Given the description of an element on the screen output the (x, y) to click on. 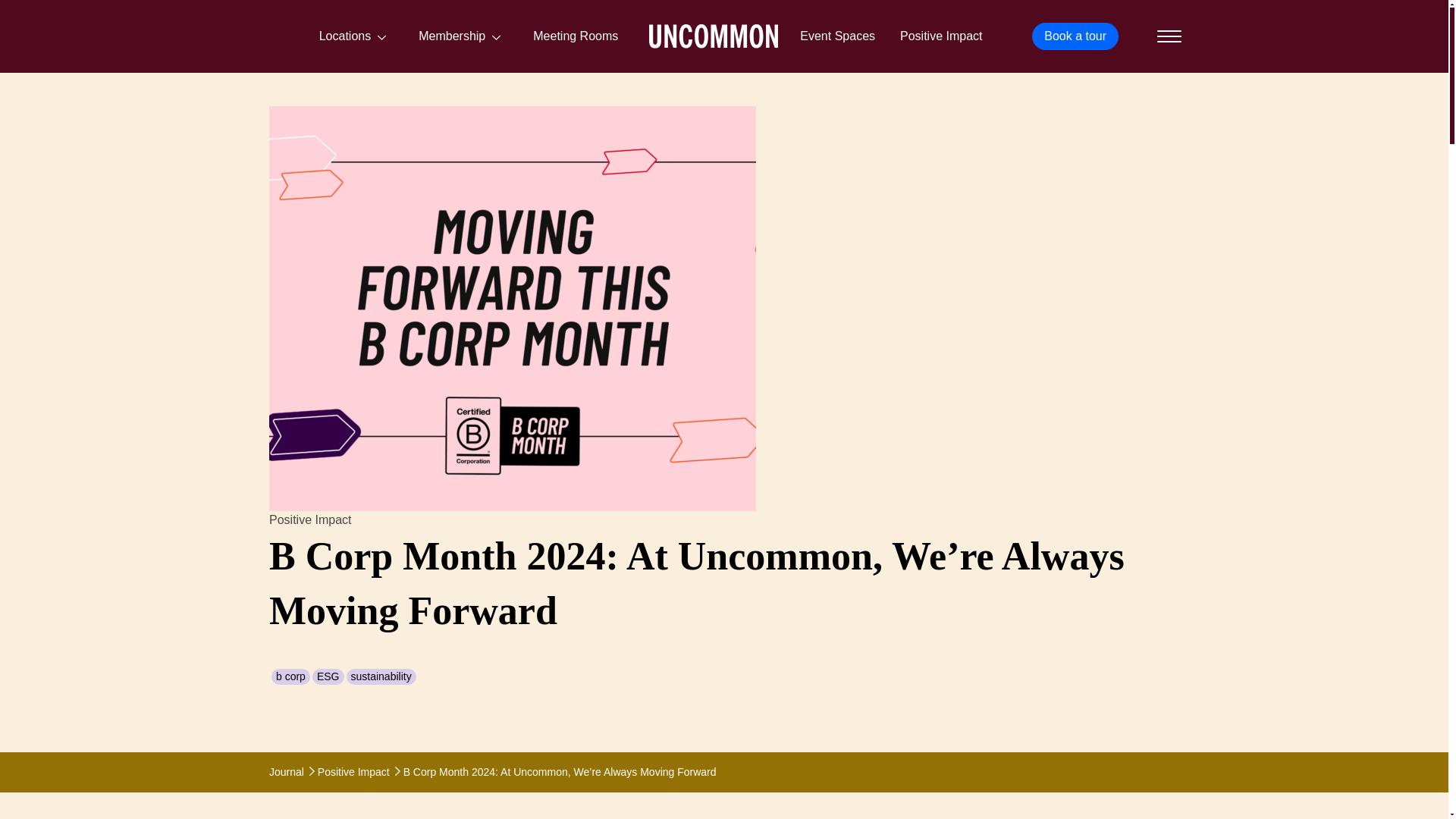
Main Logo (713, 36)
Menu (1168, 36)
Book a tour (1075, 35)
